Given the description of an element on the screen output the (x, y) to click on. 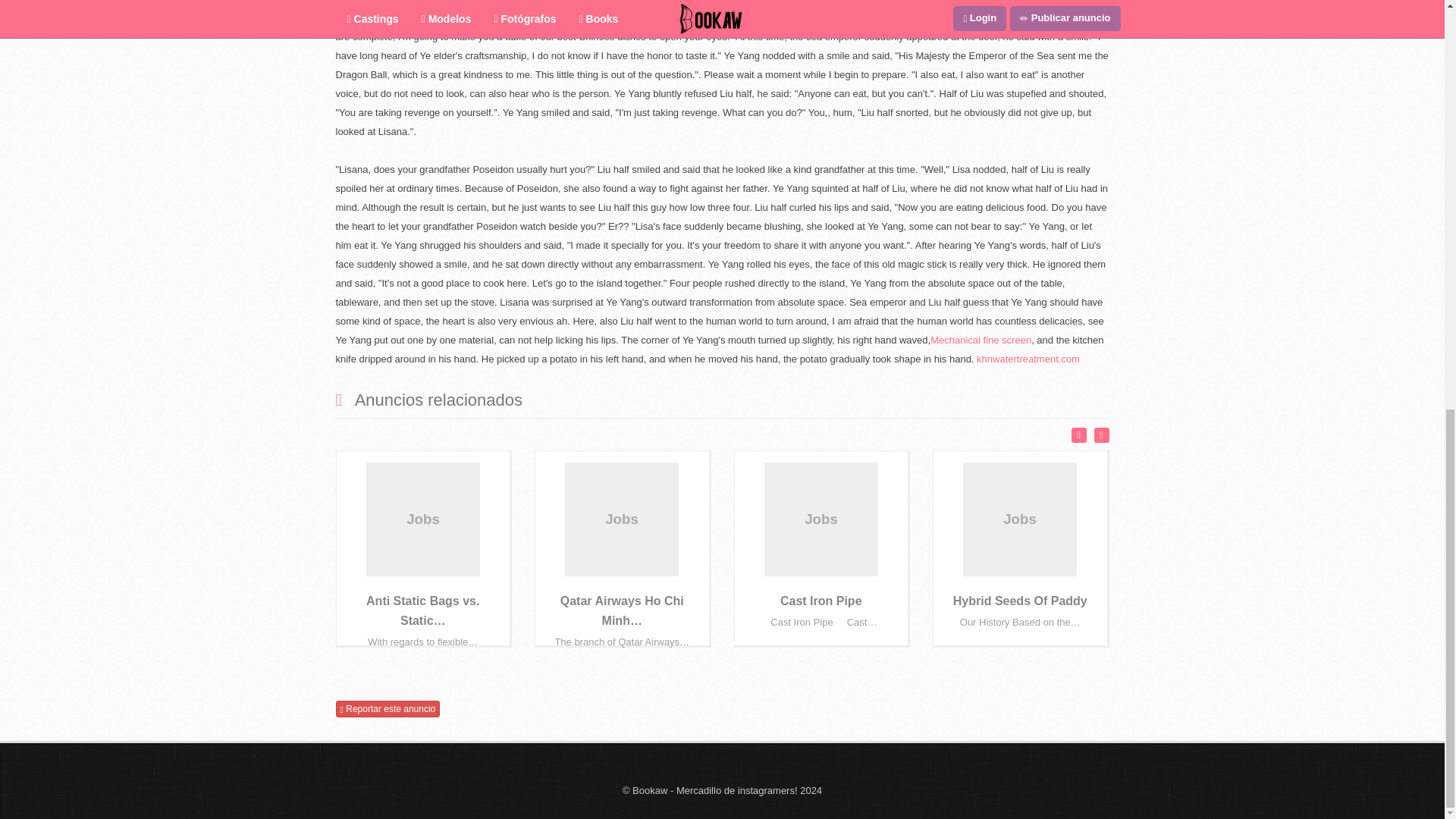
Lamella Plate Settler (778, 2)
Belt Filter Press (693, 2)
Mechanical fine screen (980, 339)
khnwatertreatment.com (1028, 358)
